Given the description of an element on the screen output the (x, y) to click on. 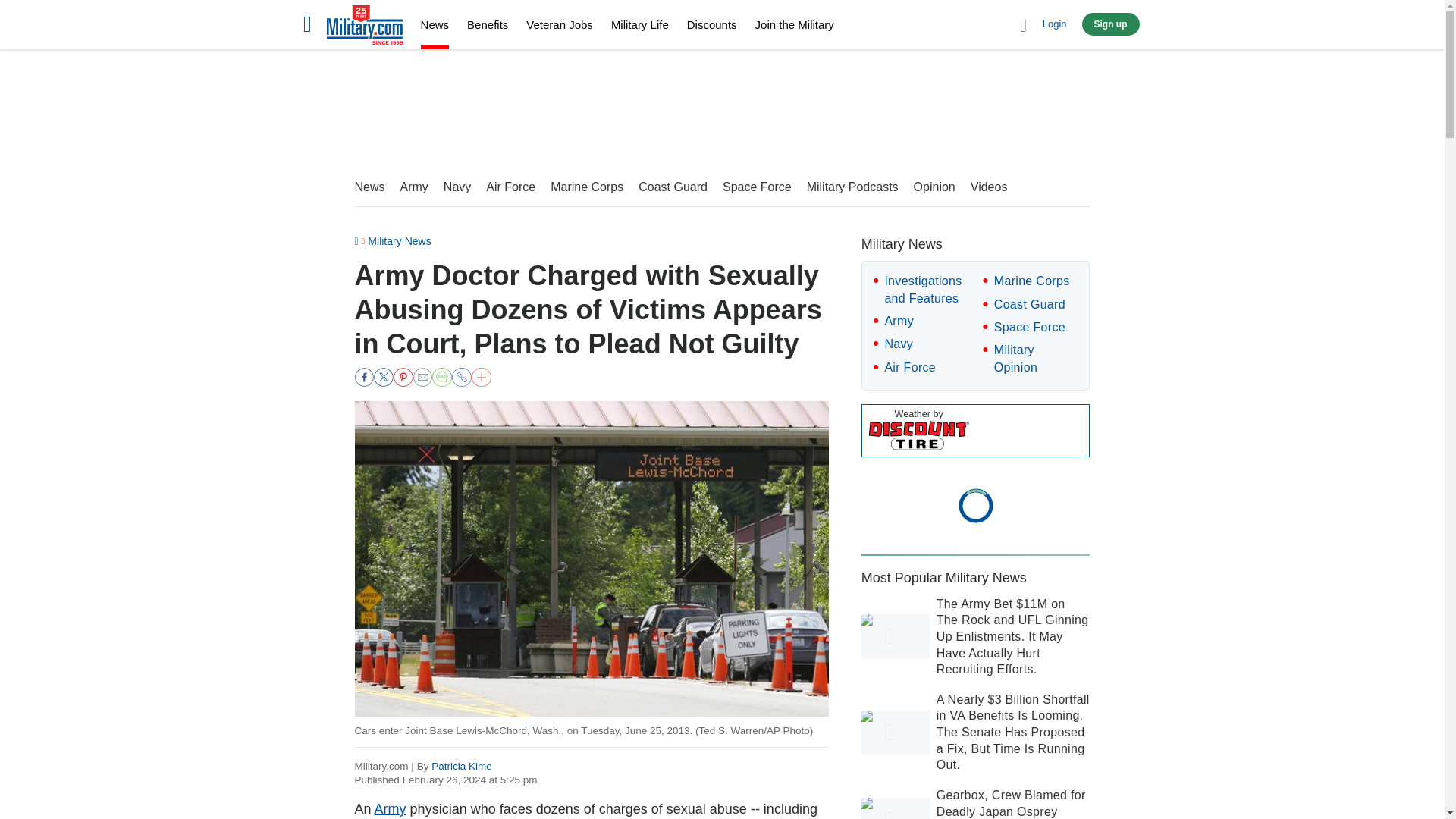
Home (364, 27)
Veteran Jobs (558, 24)
Military Life (639, 24)
Benefits (487, 24)
